Given the description of an element on the screen output the (x, y) to click on. 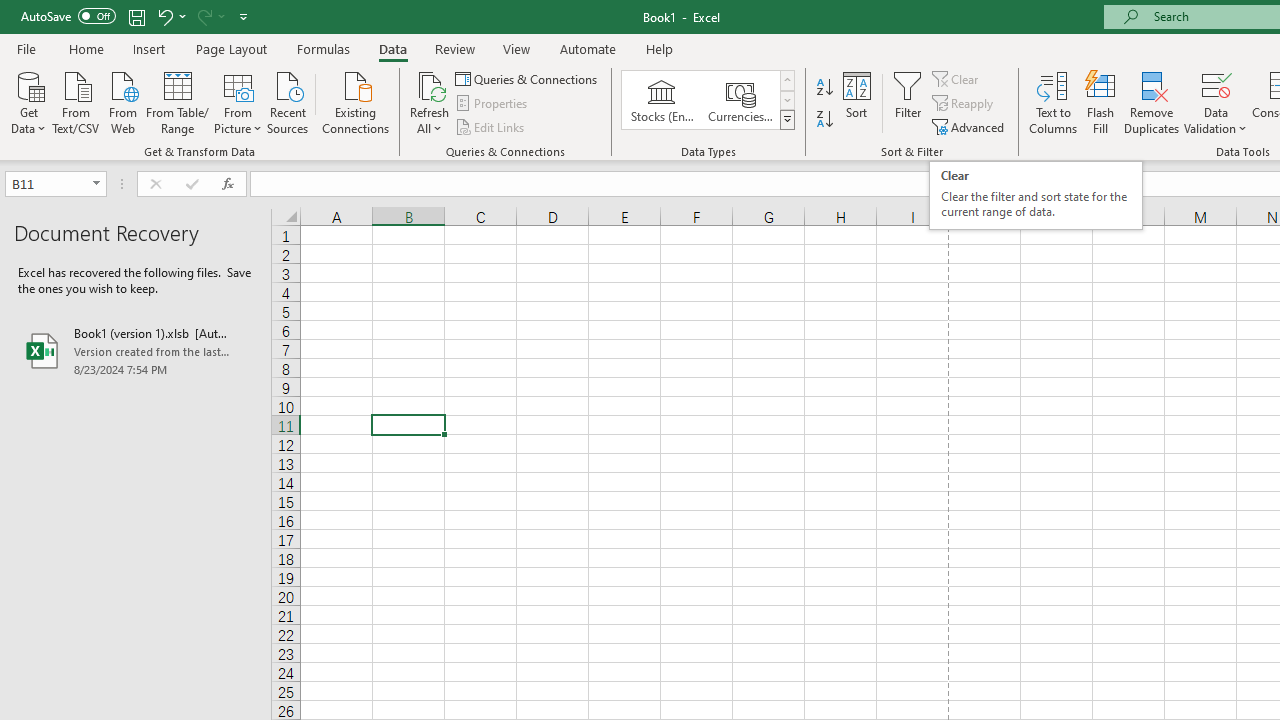
Advanced... (970, 126)
Properties (492, 103)
From Picture (238, 101)
Text to Columns... (1053, 102)
From Web (122, 101)
Filter (908, 102)
